Given the description of an element on the screen output the (x, y) to click on. 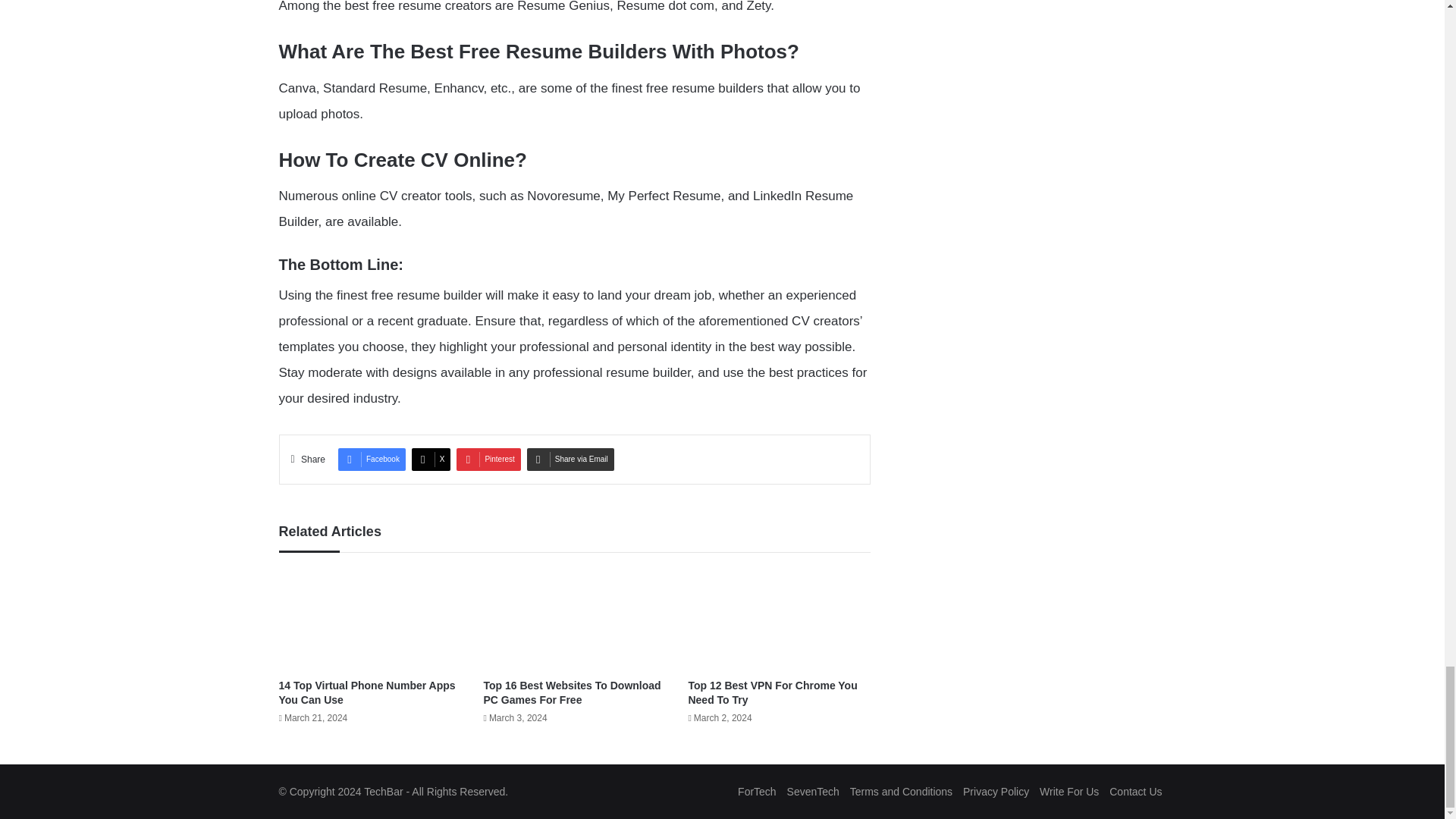
Facebook (371, 458)
X (431, 458)
X (431, 458)
Facebook (371, 458)
Pinterest (488, 458)
Share via Email (570, 458)
Share via Email (570, 458)
Pinterest (488, 458)
